Given the description of an element on the screen output the (x, y) to click on. 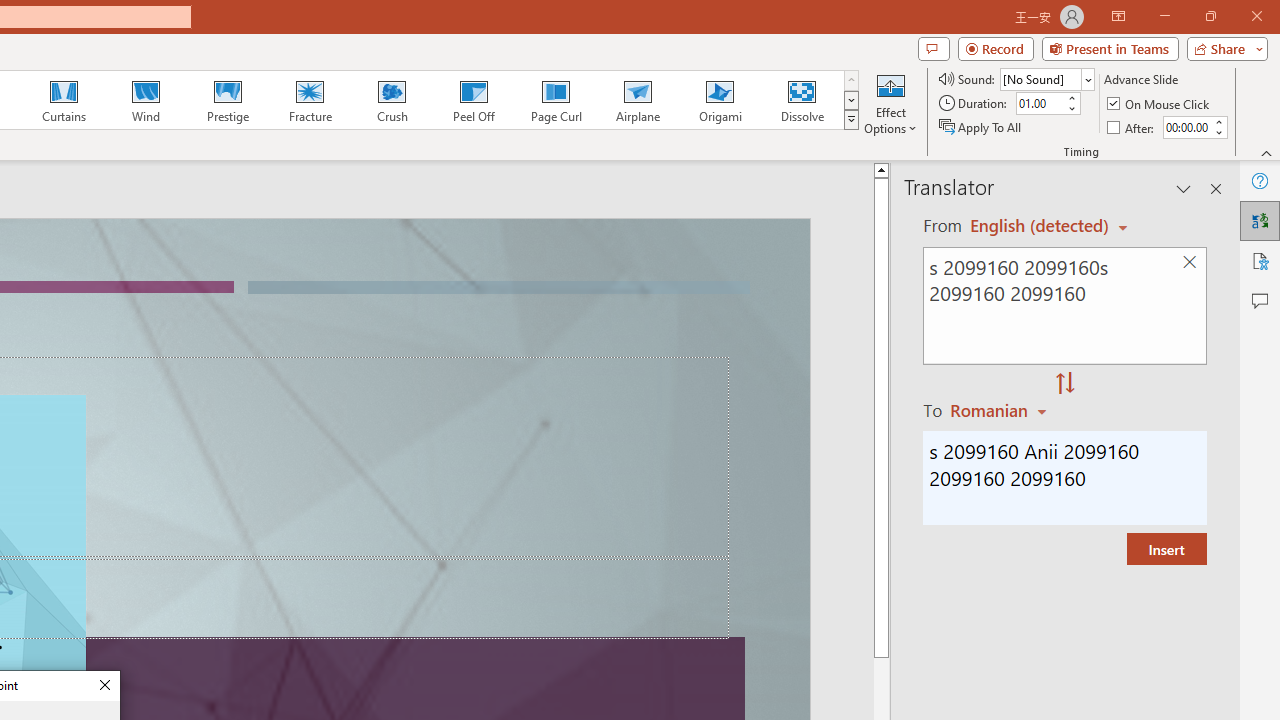
Apply To All (981, 126)
Effect Options (890, 102)
Peel Off (473, 100)
Swap "from" and "to" languages. (1065, 383)
